Given the description of an element on the screen output the (x, y) to click on. 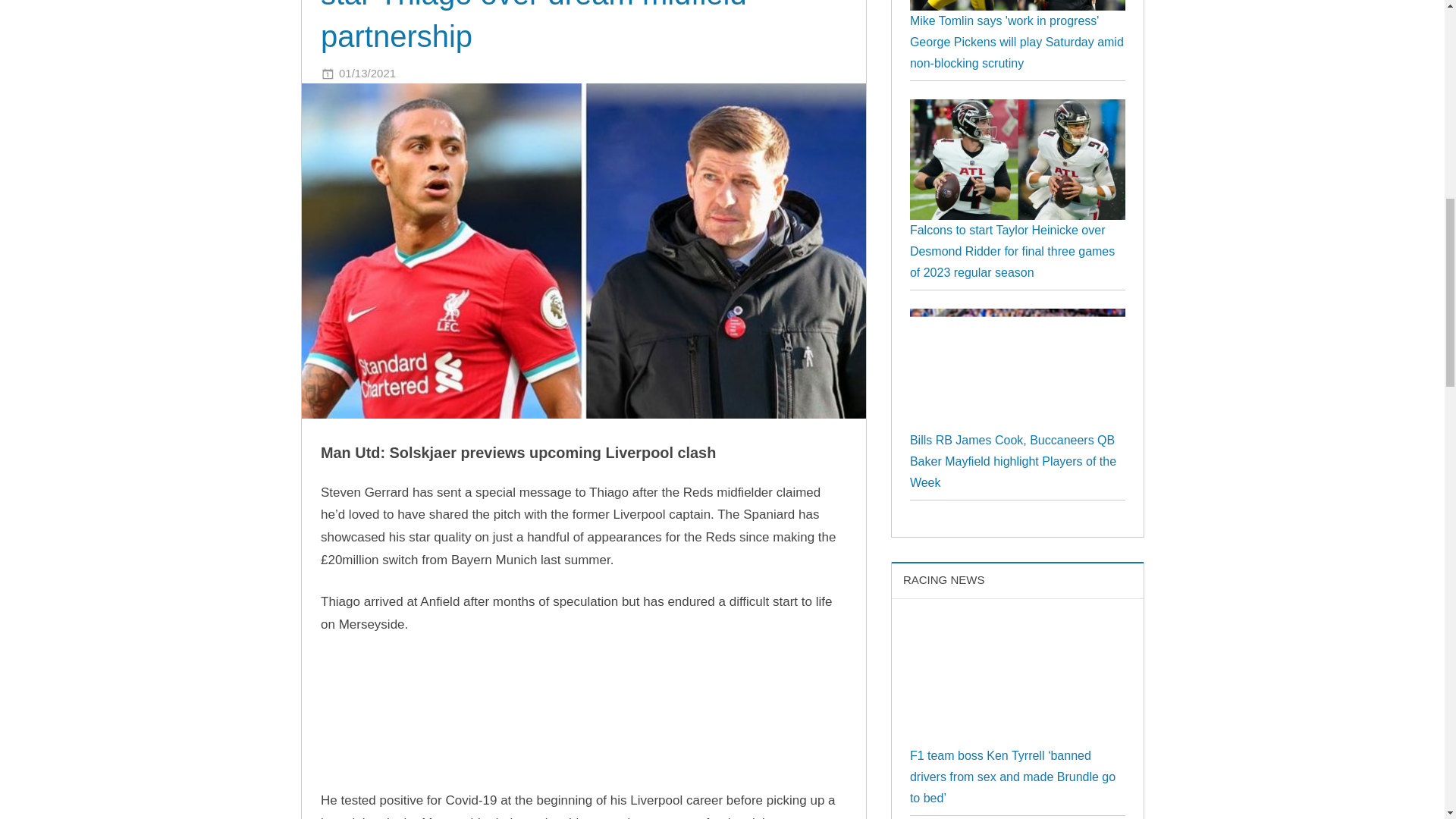
11:53 (367, 72)
